Given the description of an element on the screen output the (x, y) to click on. 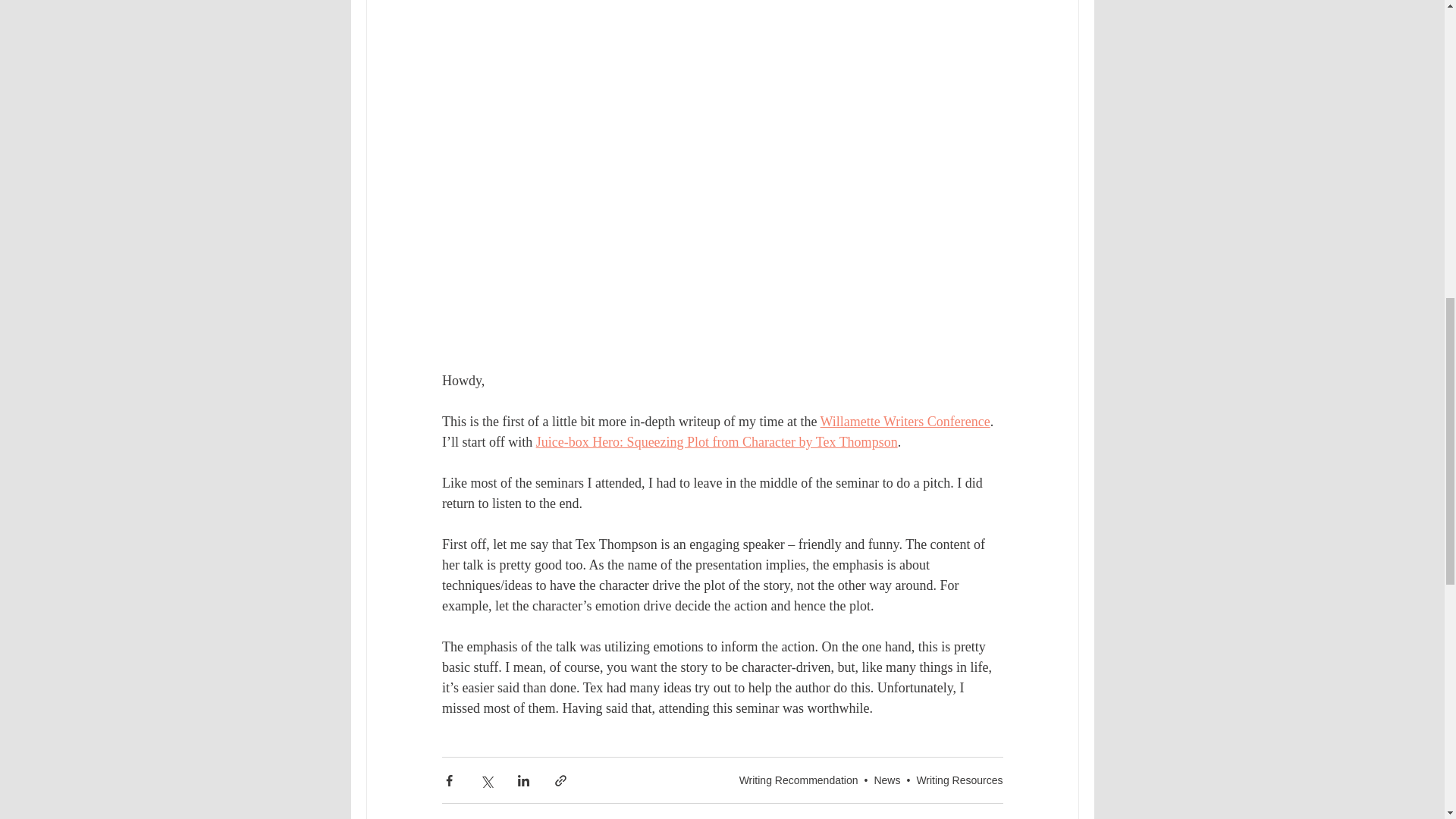
Writing Recommendation (799, 779)
Willamette Writers Conference (904, 421)
